Given the description of an element on the screen output the (x, y) to click on. 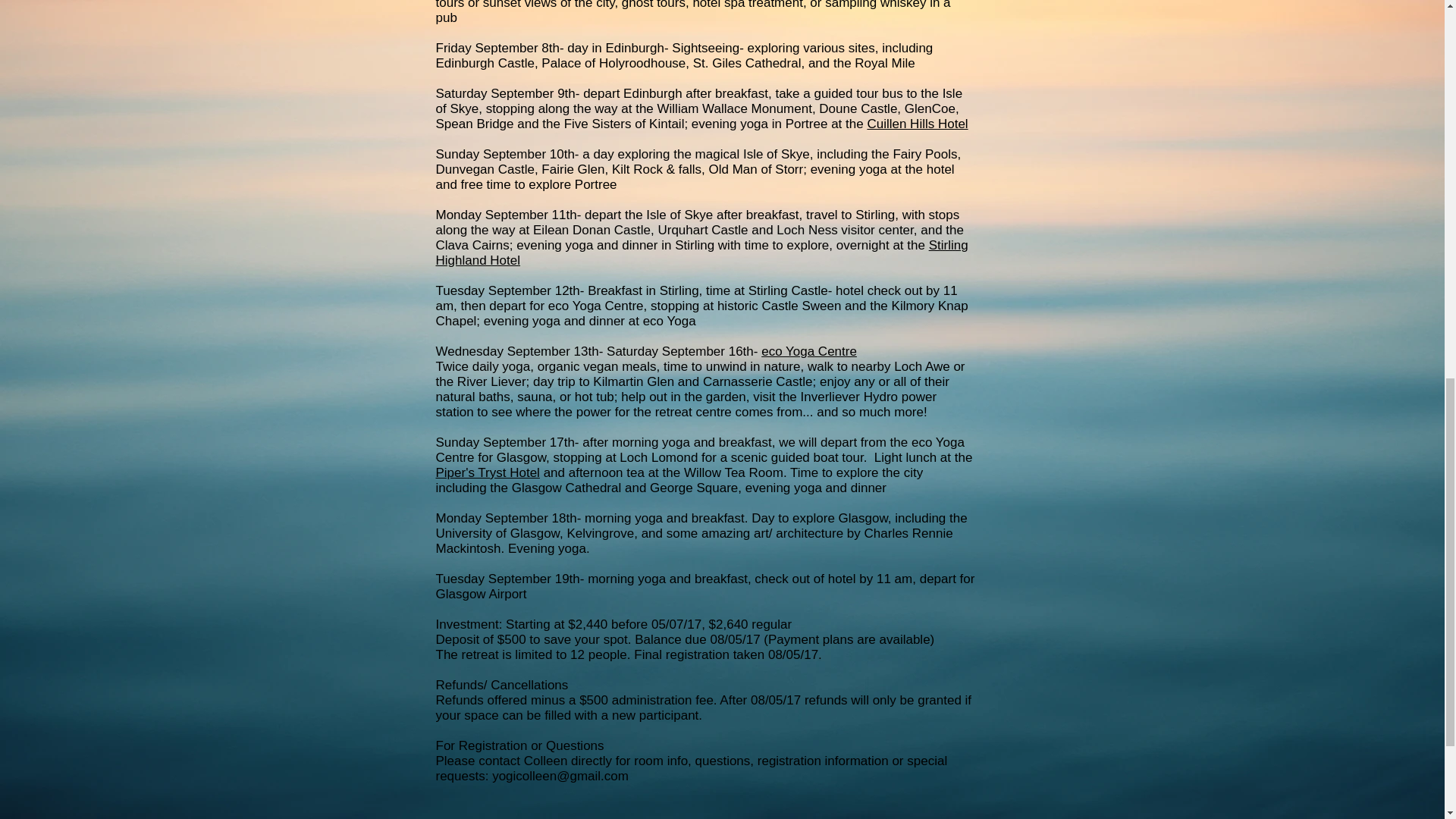
Stirling Highland Hotel (701, 252)
Piper's Tryst Hotel (486, 472)
eco Yoga Centre (809, 350)
Cuillen Hills Hotel (917, 124)
